Given the description of an element on the screen output the (x, y) to click on. 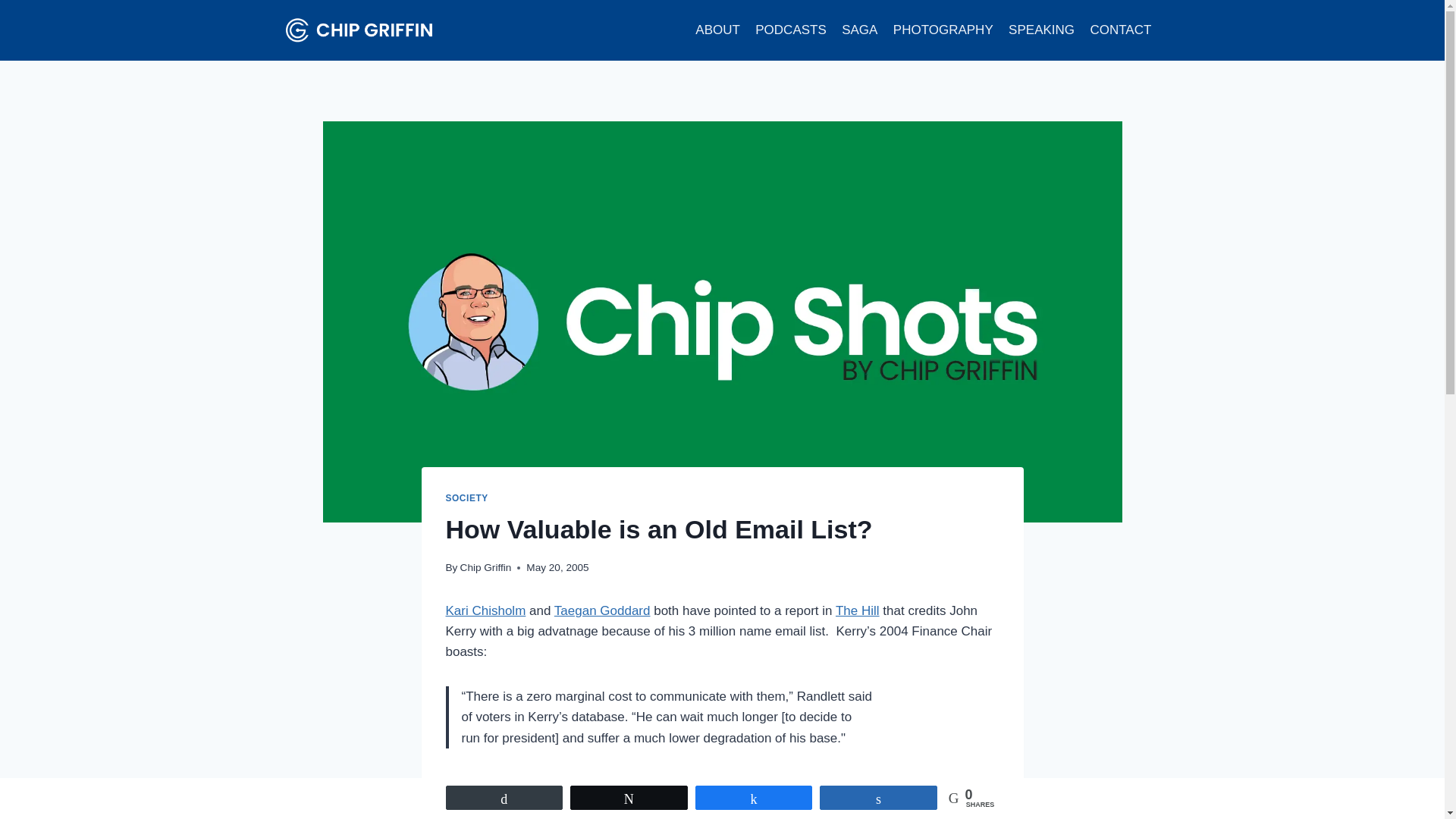
PHOTOGRAPHY (943, 30)
PODCASTS (791, 30)
SPEAKING (1041, 30)
SAGA (859, 30)
Chip Griffin (486, 567)
The Hill (857, 610)
Kari Chisholm (485, 610)
ABOUT (717, 30)
SOCIETY (466, 498)
Taegan Goddard (602, 610)
